Given the description of an element on the screen output the (x, y) to click on. 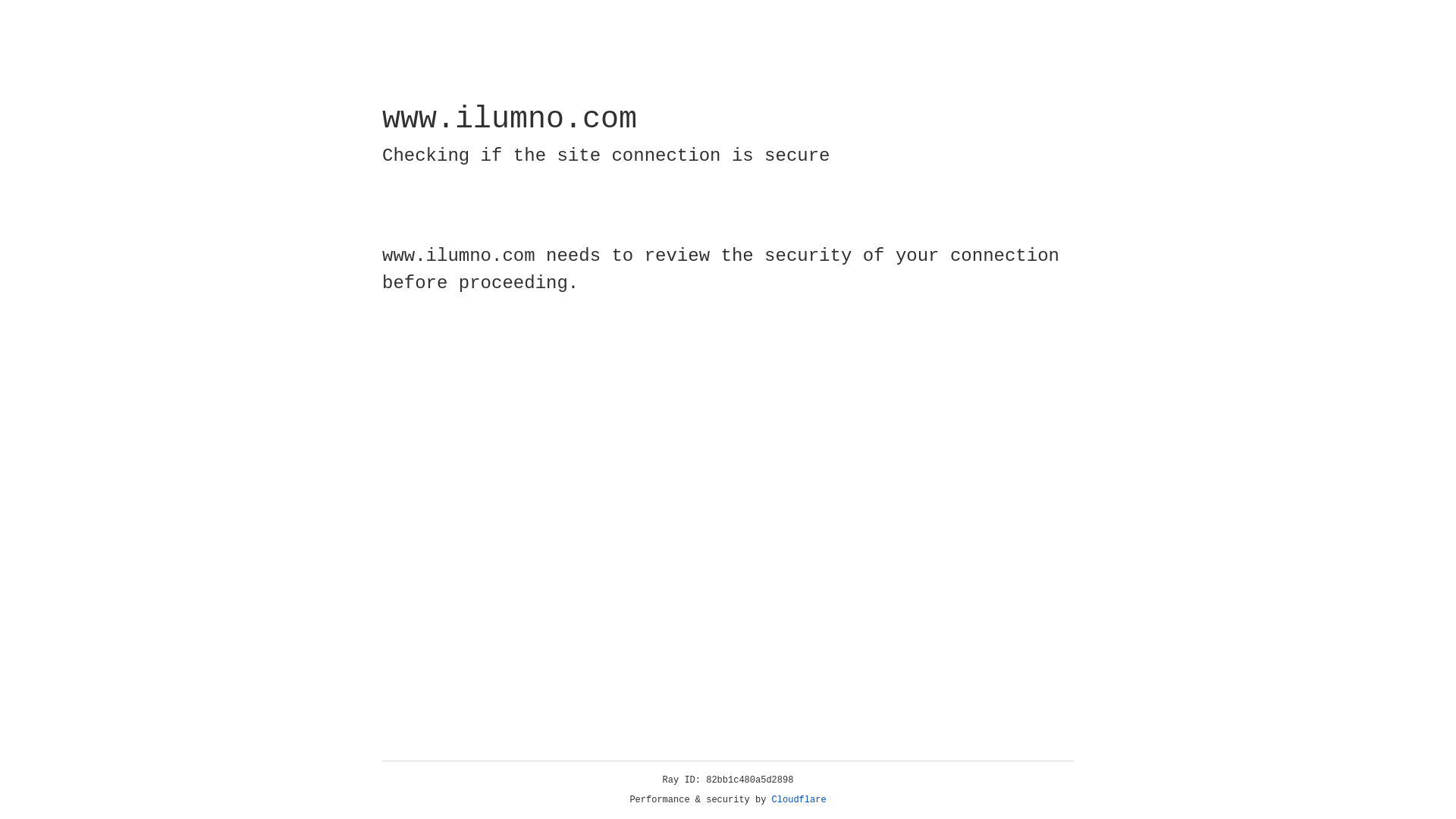
Cloudflare Element type: text (798, 799)
